Given the description of an element on the screen output the (x, y) to click on. 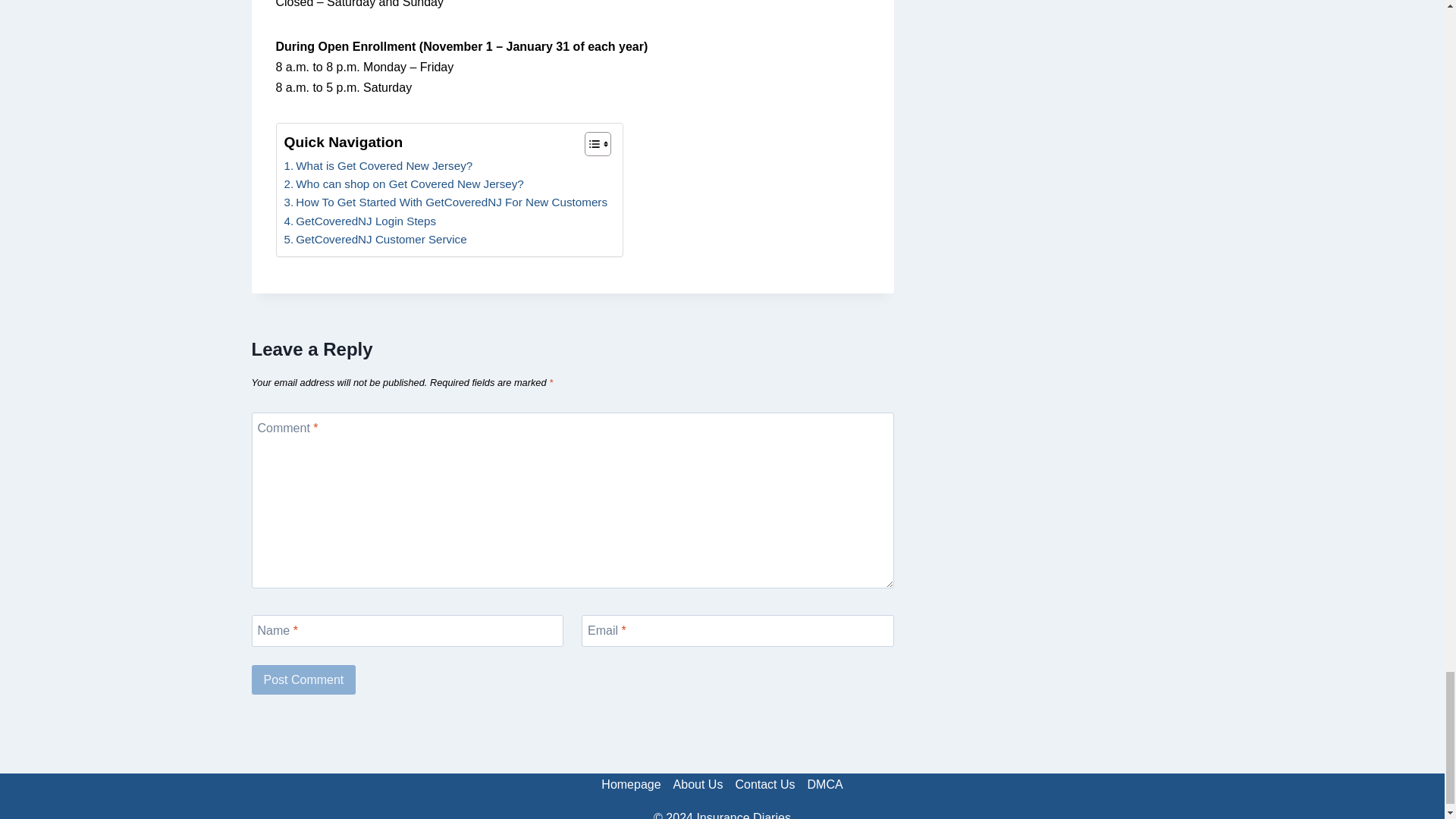
What is Get Covered New Jersey? (377, 166)
GetCoveredNJ Customer Service (374, 239)
Who can shop on Get Covered New Jersey? (402, 184)
GetCoveredNJ Login Steps (359, 221)
Post Comment (303, 679)
How To Get Started With GetCoveredNJ For New Customers (445, 202)
